Given the description of an element on the screen output the (x, y) to click on. 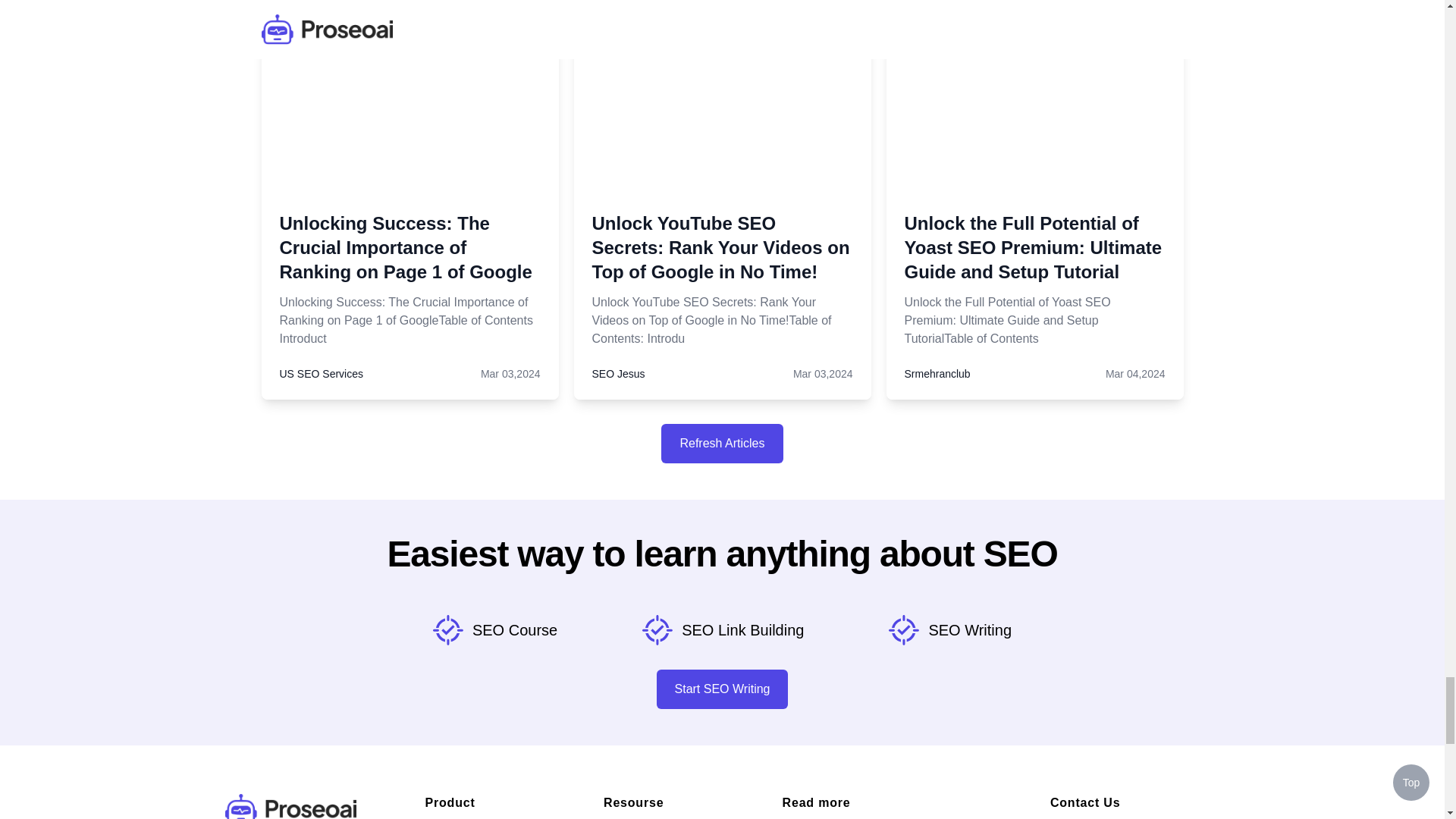
US SEO Services (320, 373)
Srmehranclub (936, 373)
SEO Jesus (618, 373)
Start SEO Writing (722, 689)
